Given the description of an element on the screen output the (x, y) to click on. 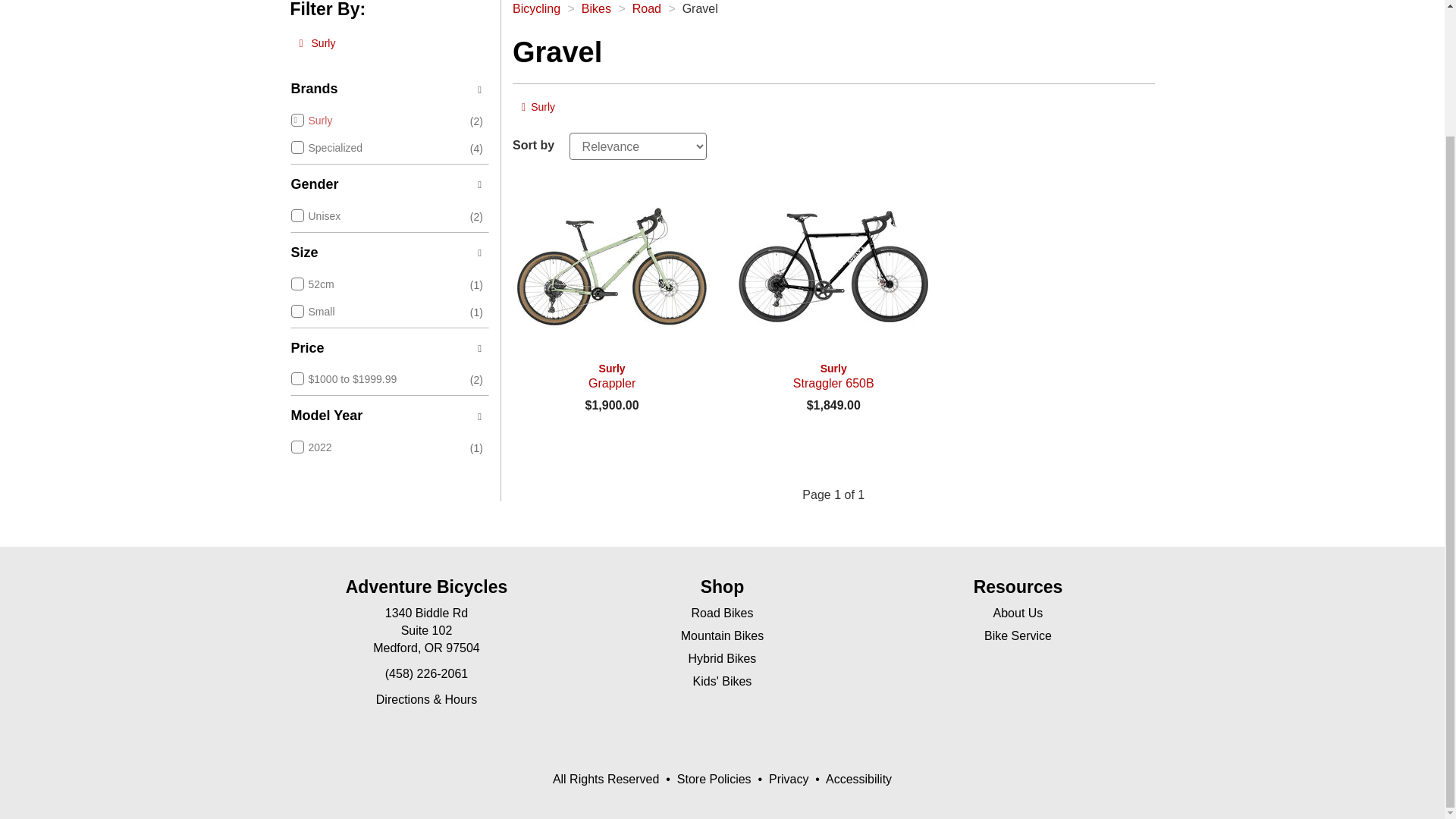
Price (387, 348)
Surly Straggler 650B (833, 266)
Surly Straggler 650B (538, 107)
Surly Grappler (833, 376)
Road (611, 376)
Model Year (646, 9)
Size (387, 415)
Gender (387, 252)
